Given the description of an element on the screen output the (x, y) to click on. 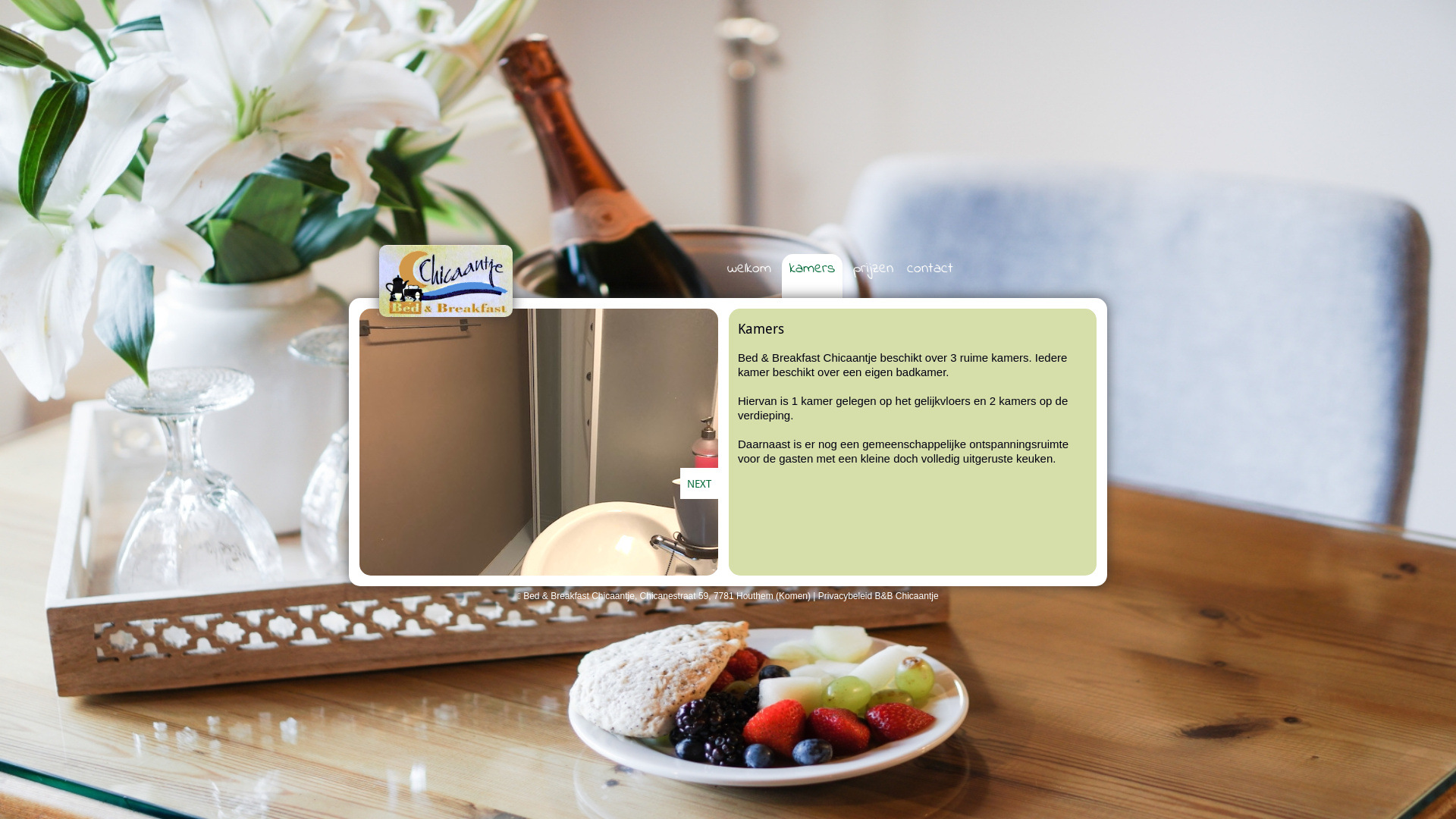
Privacybeleid B&B Chicaantje Element type: text (878, 595)
welkom Element type: text (749, 268)
NEXT Element type: text (699, 483)
prijzen Element type: text (873, 268)
contact Element type: text (930, 268)
kamers Element type: text (811, 268)
